Given the description of an element on the screen output the (x, y) to click on. 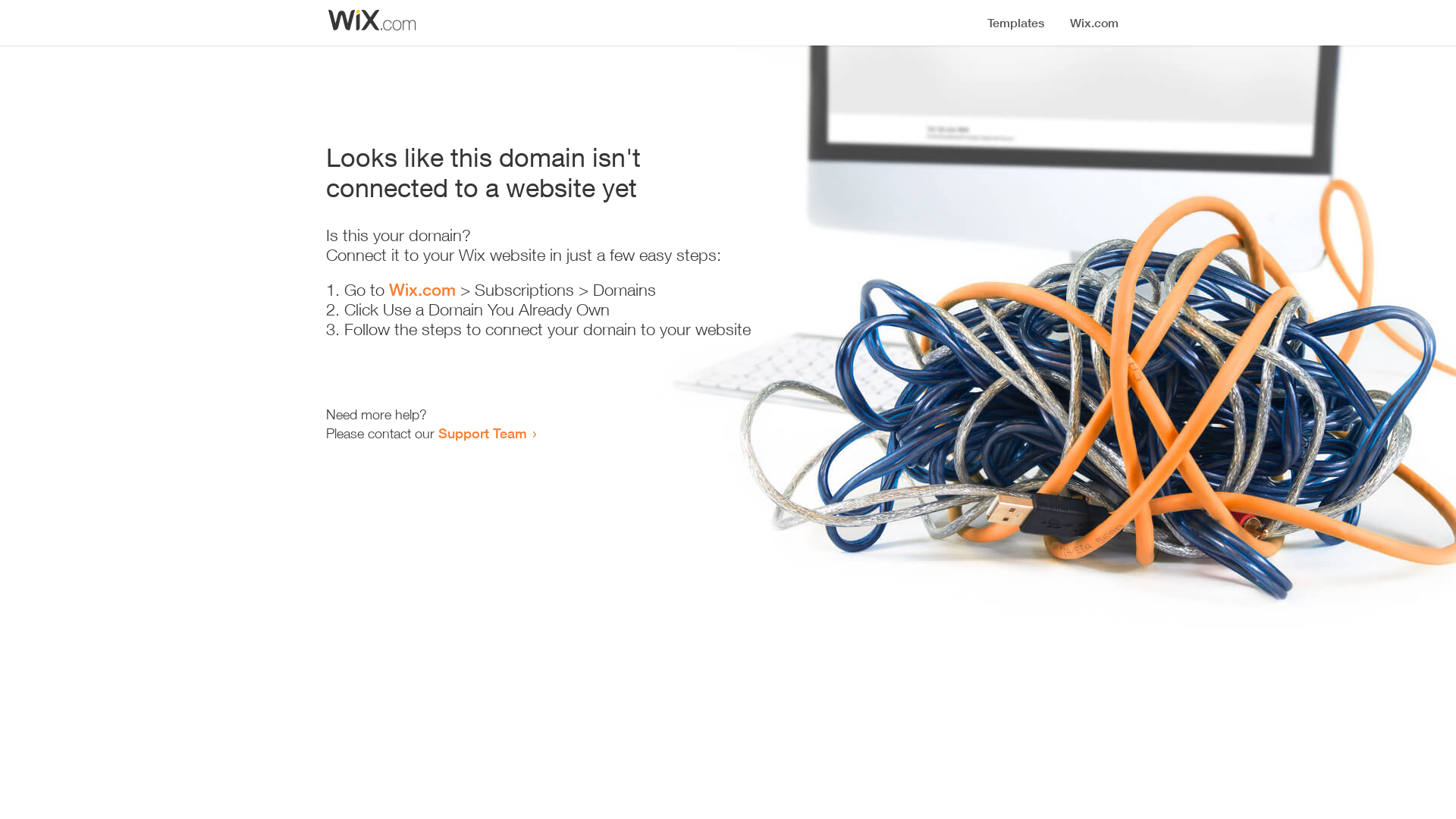
Support Team Element type: text (482, 432)
Wix.com Element type: text (422, 289)
